Given the description of an element on the screen output the (x, y) to click on. 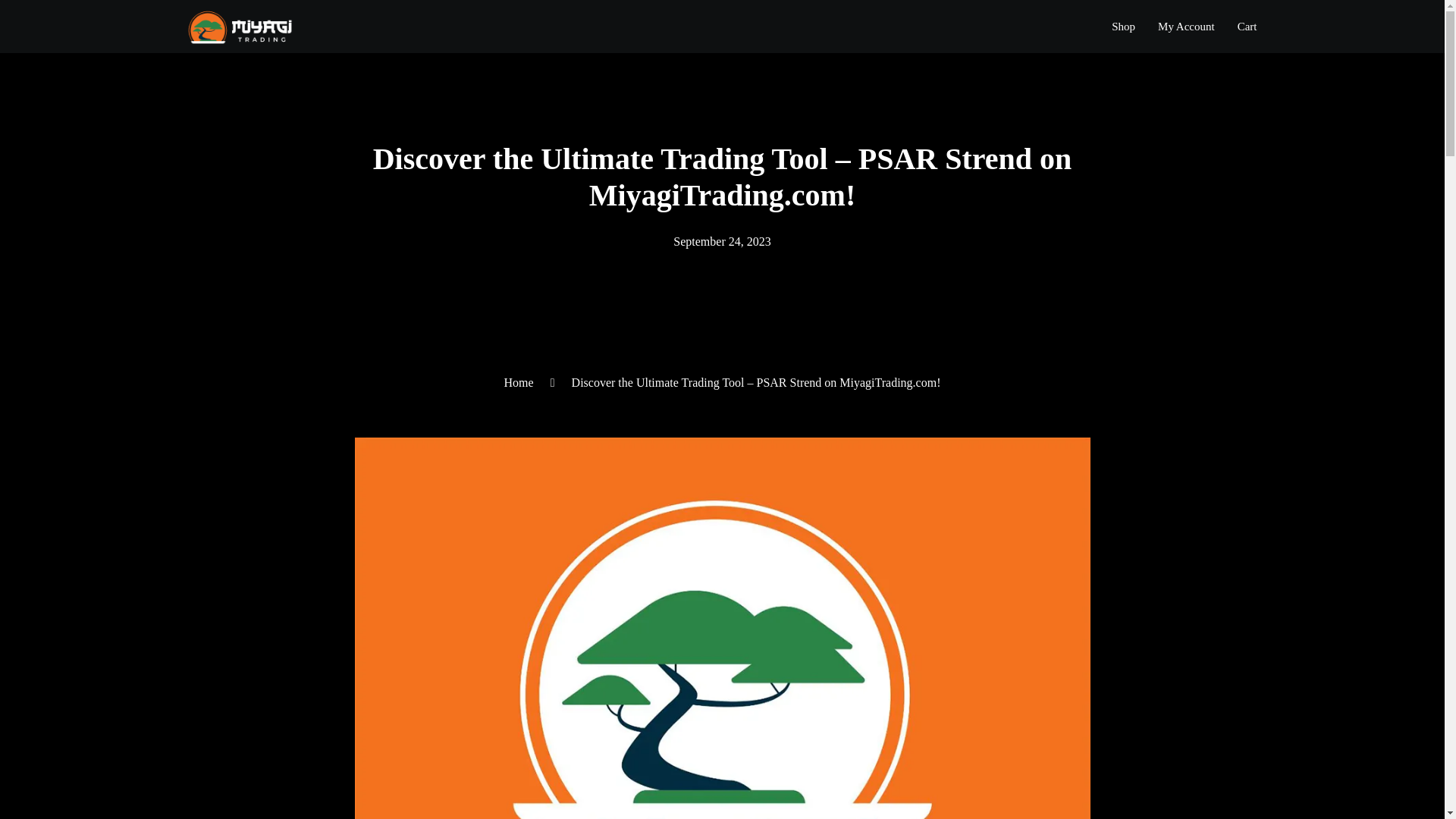
September 24, 2023 (721, 241)
Home (518, 382)
Shop (1123, 26)
My Account (1186, 26)
